Given the description of an element on the screen output the (x, y) to click on. 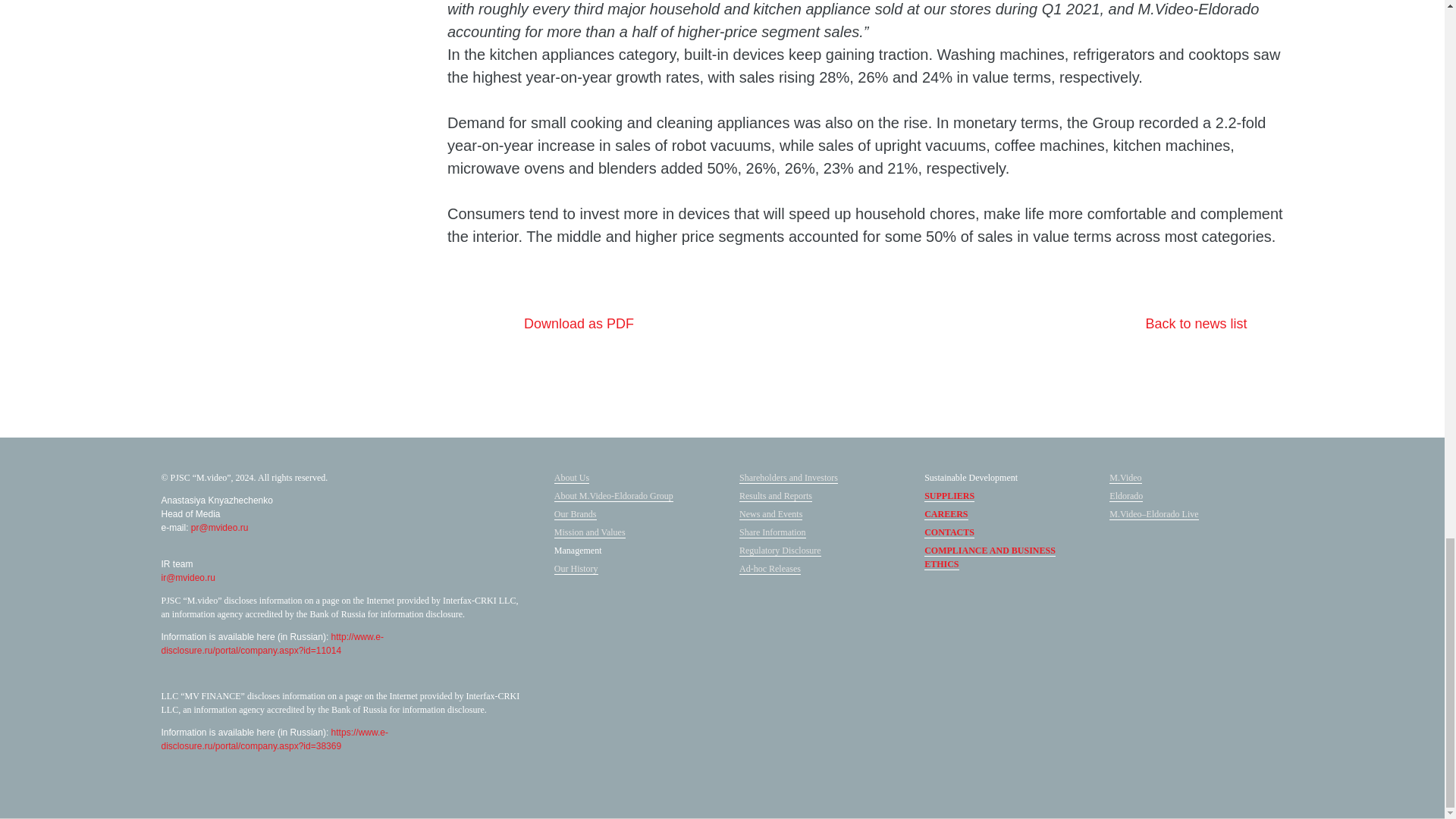
Send email (1153, 514)
Open external link in new window (949, 532)
Open external link in new window (946, 514)
Open external link in new window (1125, 496)
Open external link in new window (1125, 478)
